Given the description of an element on the screen output the (x, y) to click on. 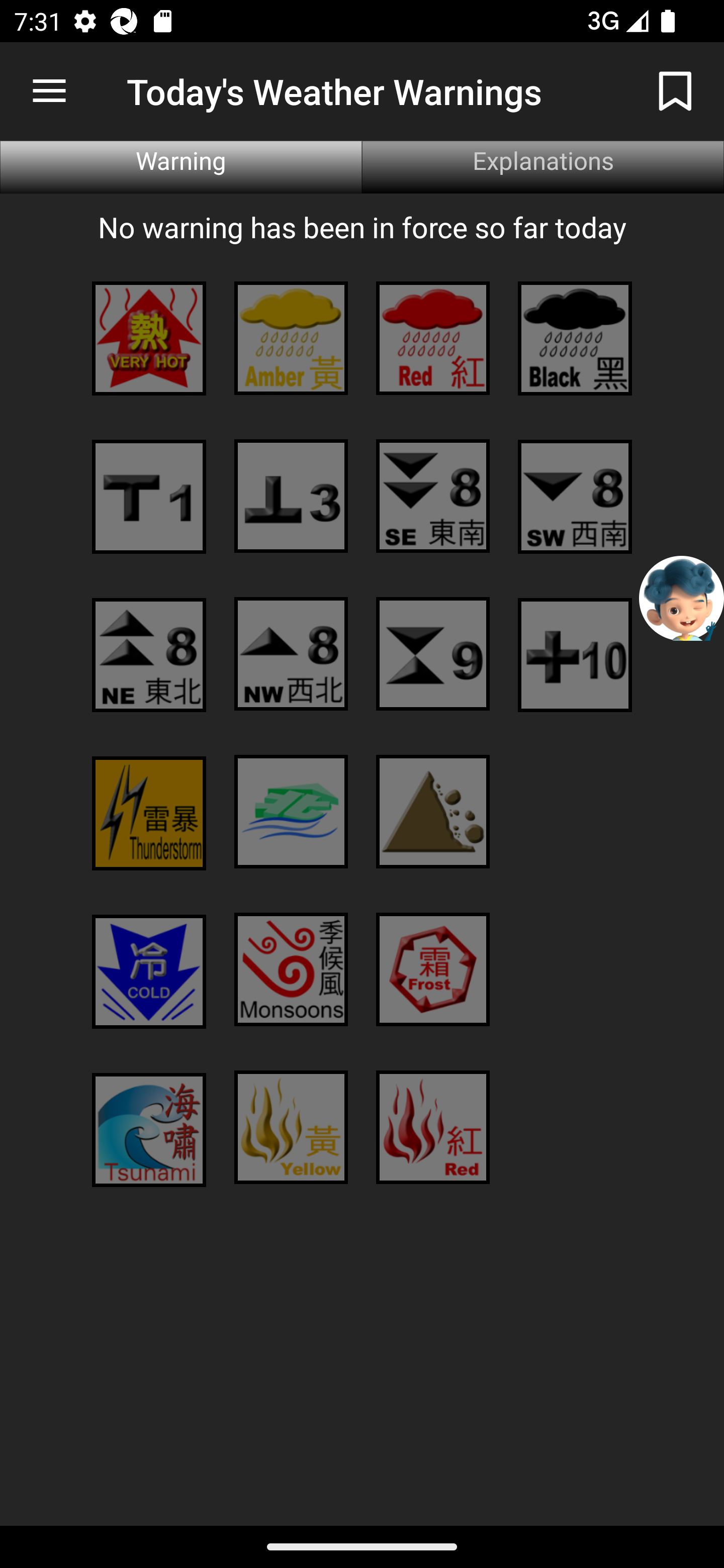
Navigate up (49, 91)
Bookmark not added (674, 90)
Warning (181, 166)
Explanations (543, 166)
Chatbot (681, 598)
